Given the description of an element on the screen output the (x, y) to click on. 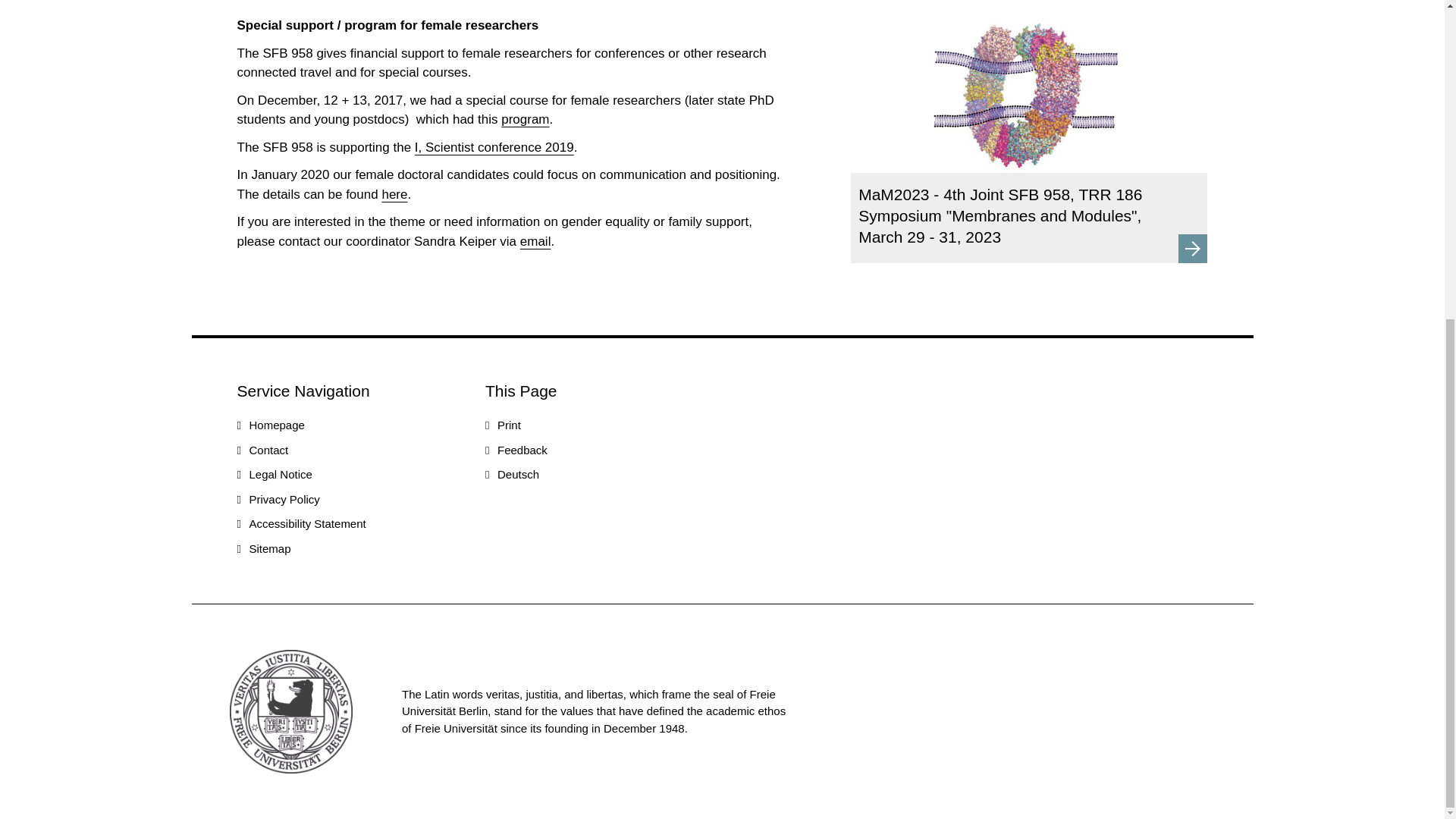
I, Scientist conference 2019 (493, 146)
Career workshop female researcher 2017 programme (524, 119)
Communication and Positioning for Female Researchers (394, 193)
